Given the description of an element on the screen output the (x, y) to click on. 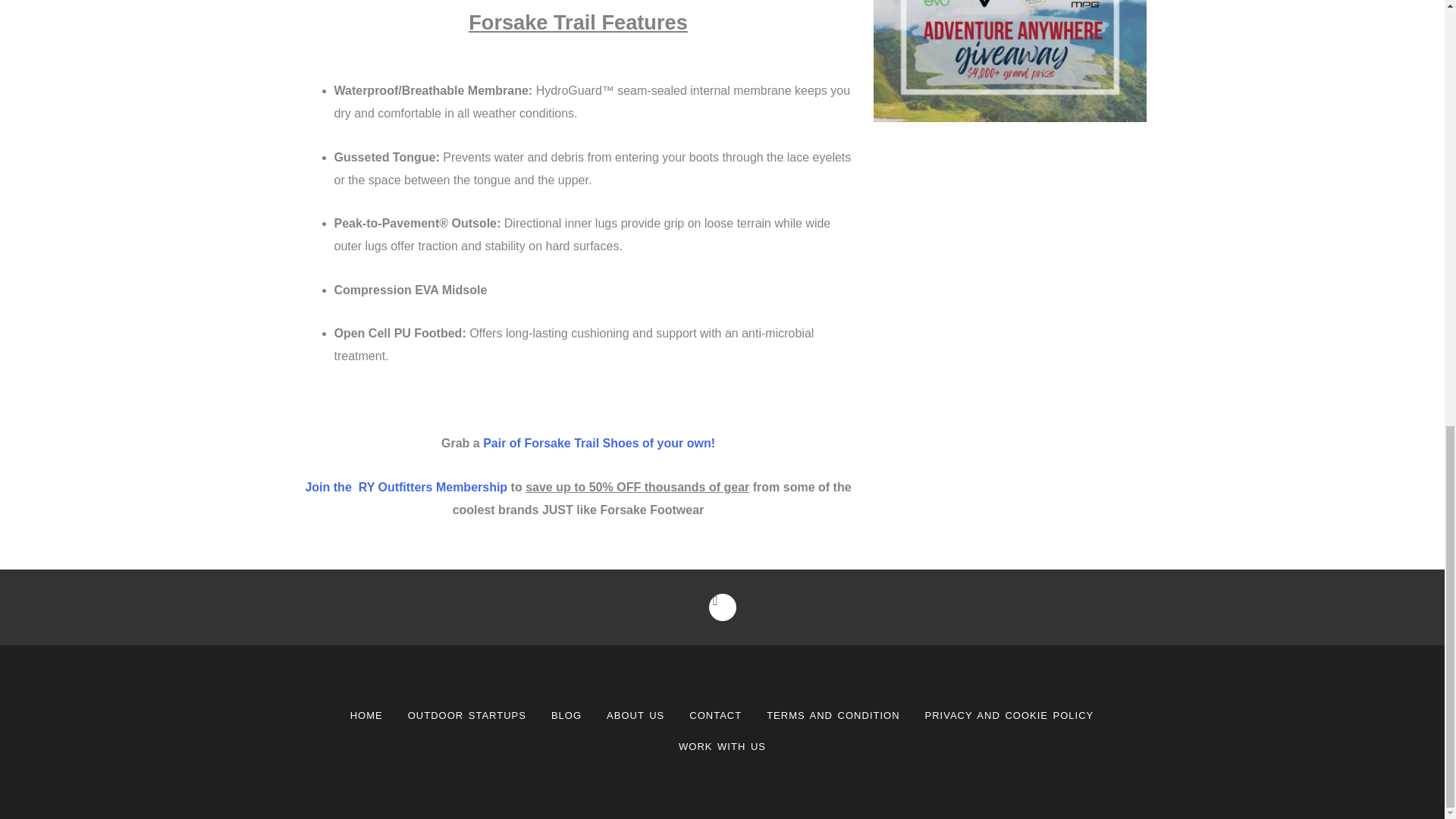
ABOUT US (635, 716)
PRIVACY AND COOKIE POLICY (1009, 716)
Join the  RY Outfitters Membership (405, 486)
HOME (365, 716)
TERMS AND CONDITION (832, 716)
BLOG (566, 716)
WORK WITH US (721, 747)
OUTDOOR STARTUPS (467, 716)
CONTACT (715, 716)
Pair of Forsake Trail Shoes of your own! (598, 442)
